Given the description of an element on the screen output the (x, y) to click on. 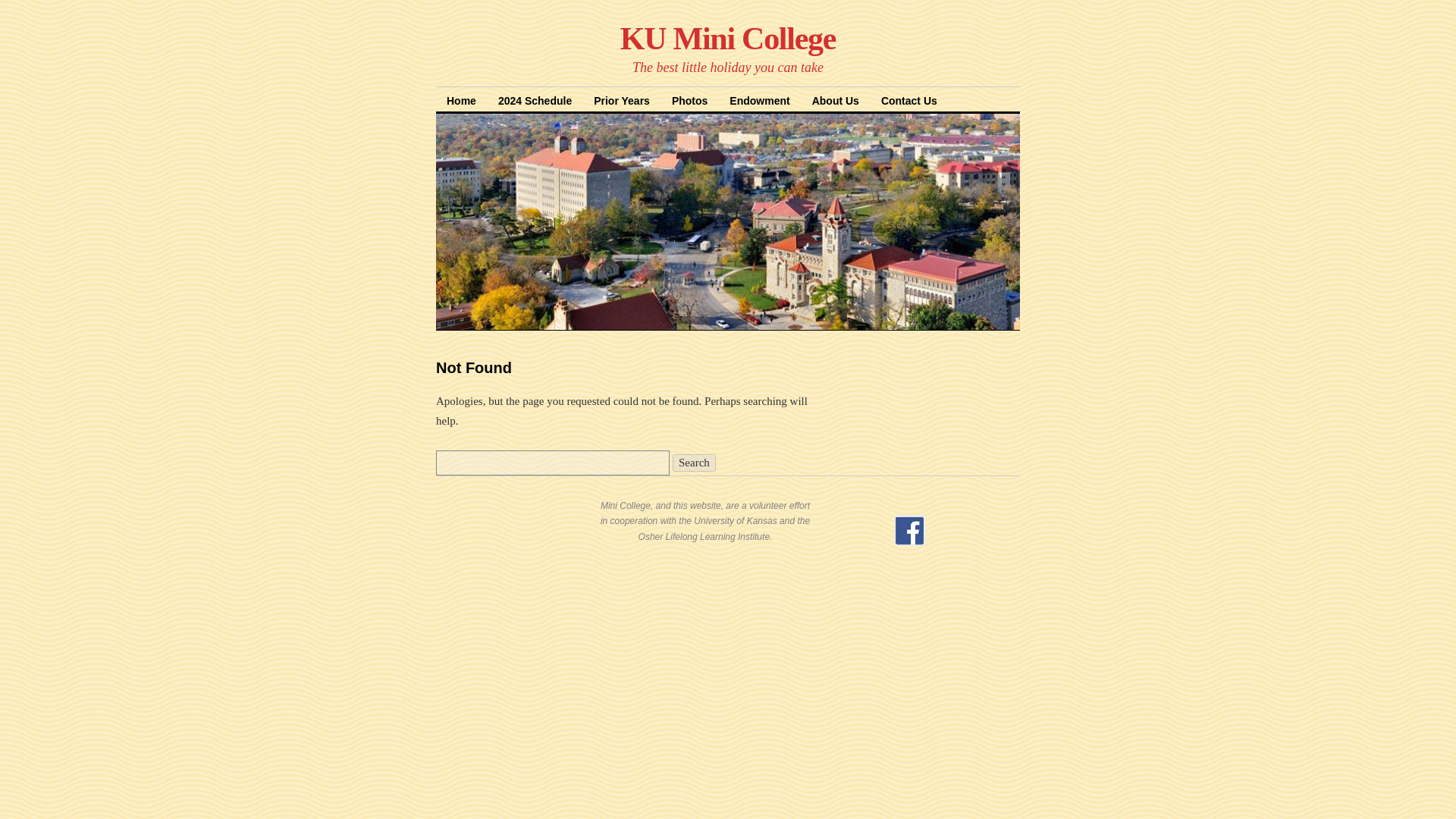
KU Mini College (727, 38)
Contact Us (908, 99)
2024 Schedule (534, 99)
Prior Years (622, 99)
Endowment (759, 99)
Home (460, 99)
About Us (835, 99)
KU Mini College (727, 38)
Search (694, 462)
Search (694, 462)
Photos (689, 99)
